Given the description of an element on the screen output the (x, y) to click on. 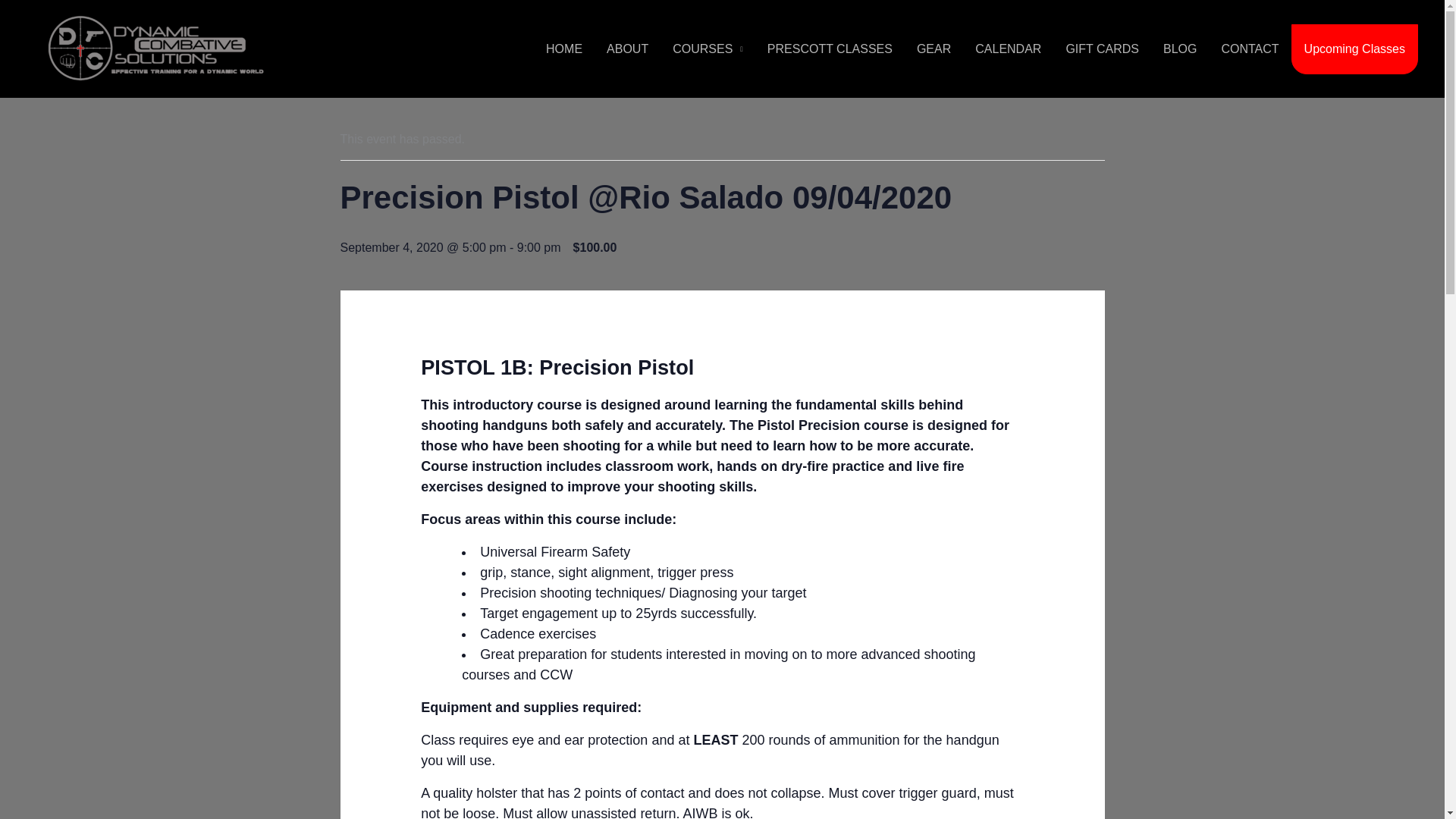
BLOG (1179, 49)
CALENDAR (1007, 49)
Upcoming Classes (1354, 48)
GEAR (933, 49)
PRESCOTT CLASSES (829, 49)
CONTACT (1249, 49)
GIFT CARDS (1101, 49)
ABOUT (627, 49)
HOME (564, 49)
COURSES (708, 49)
